Given the description of an element on the screen output the (x, y) to click on. 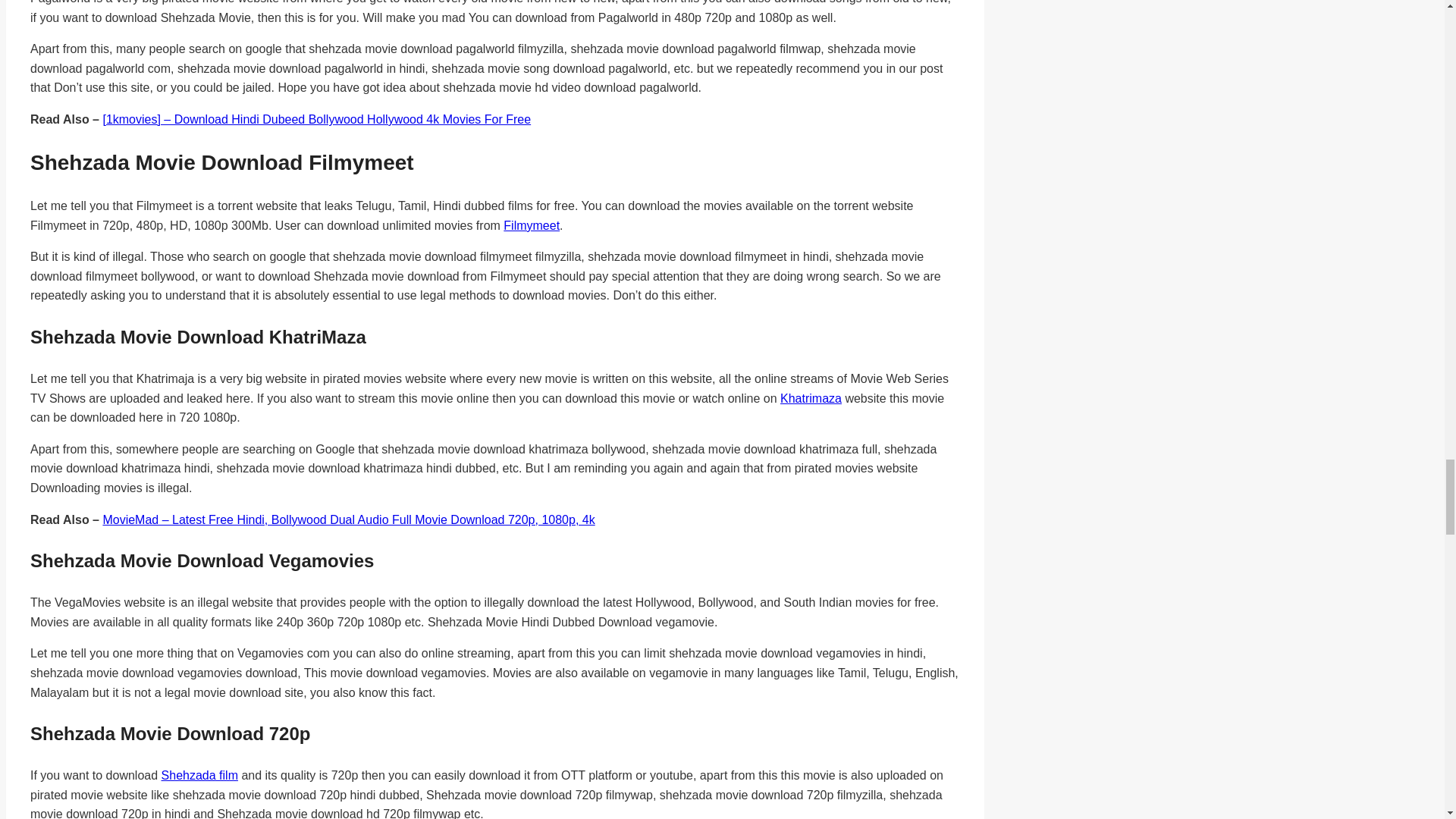
Filmymeet (531, 225)
Shehzada film (199, 775)
Khatrimaza (810, 398)
